Given the description of an element on the screen output the (x, y) to click on. 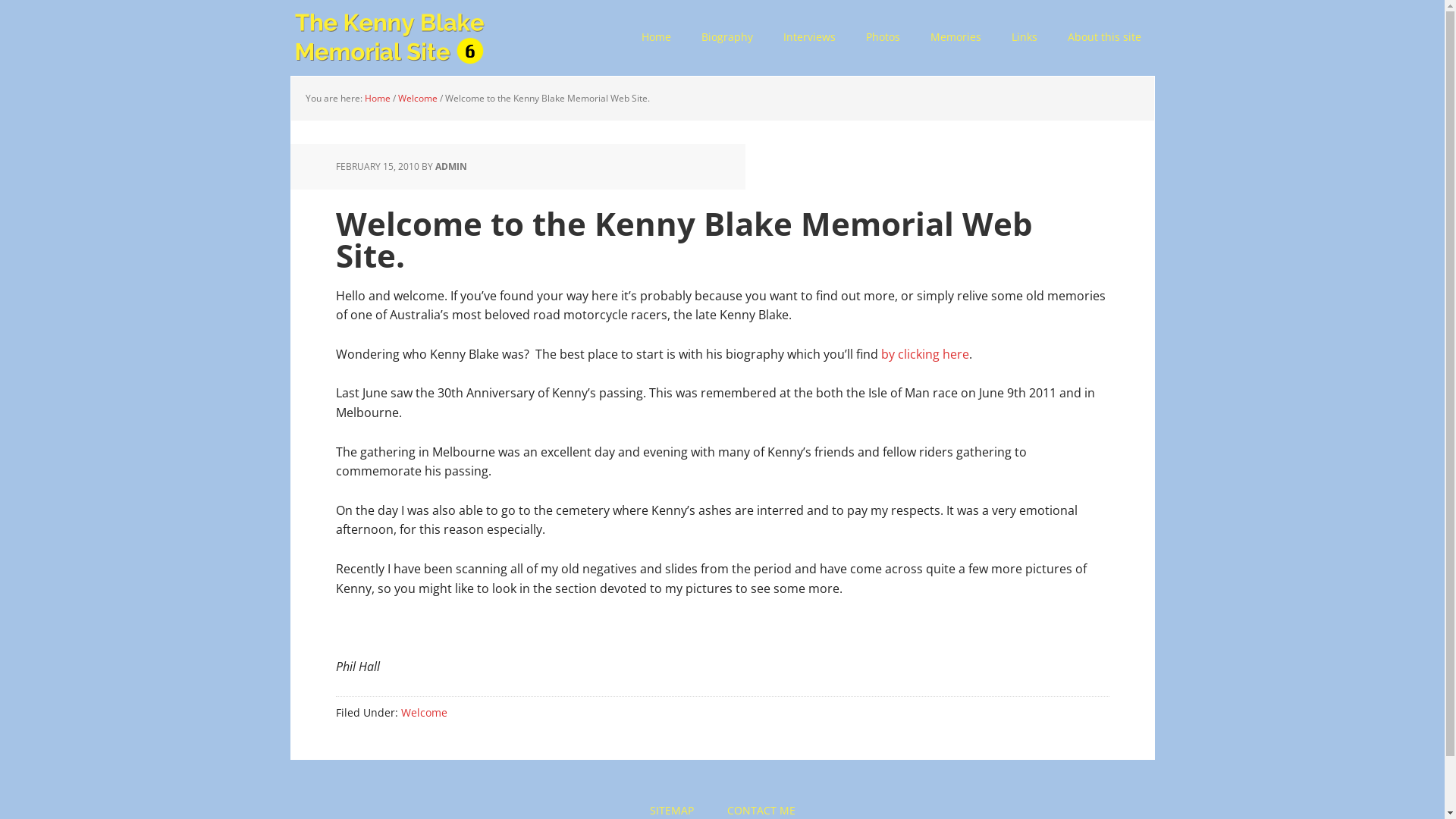
Skip to main content Element type: text (289, 0)
Memories Element type: text (955, 37)
Home Element type: text (376, 97)
Interviews Element type: text (808, 37)
Photos Element type: text (882, 37)
Welcome Element type: text (423, 712)
by clicking here Element type: text (925, 353)
Welcome Element type: text (416, 97)
ADMIN Element type: text (451, 166)
About this site Element type: text (1104, 37)
Biography Element type: text (726, 37)
Links Element type: text (1024, 37)
The Kenny Blake Memorial Site Element type: text (387, 37)
Home Element type: text (655, 37)
